Given the description of an element on the screen output the (x, y) to click on. 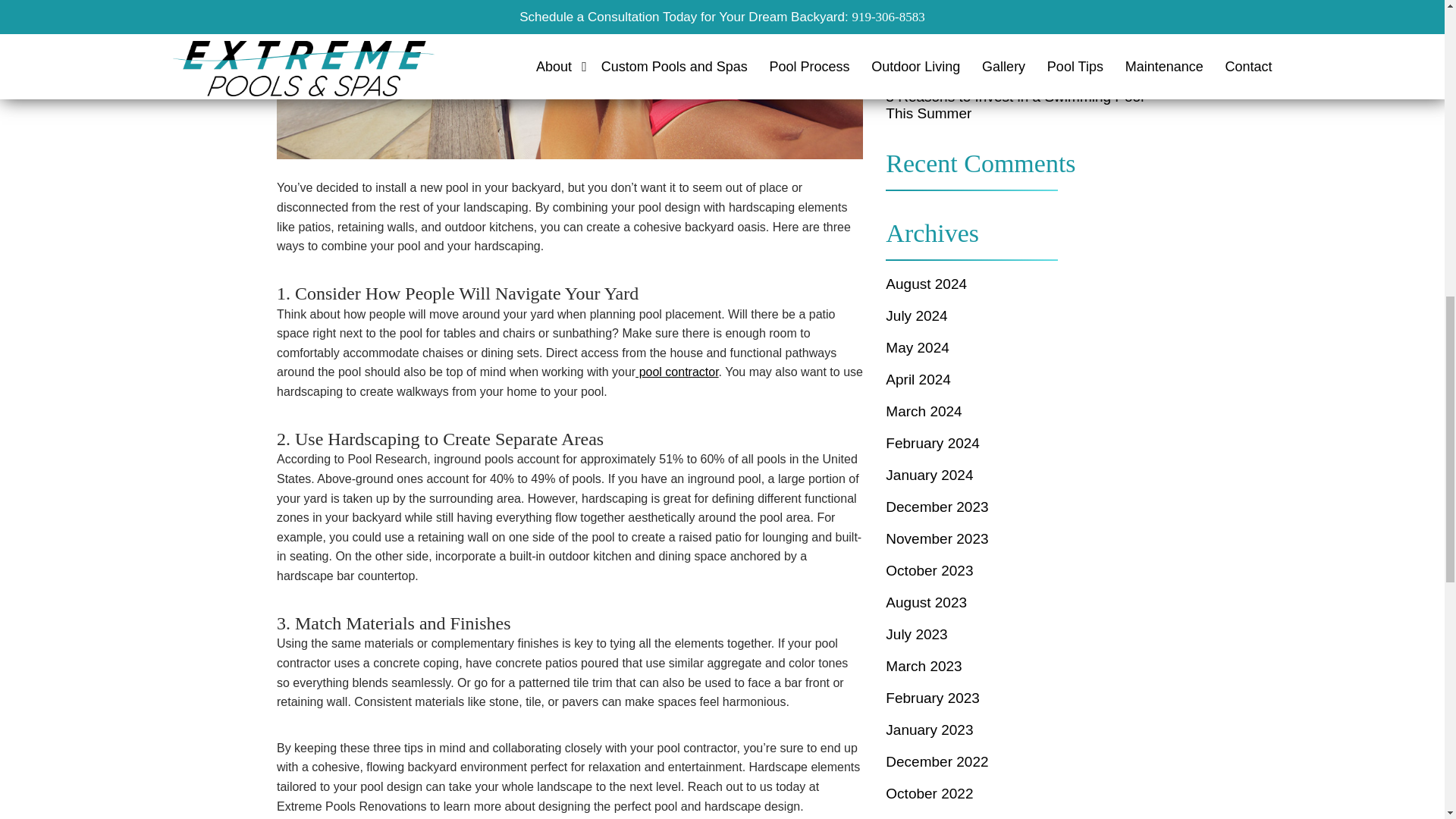
August 2024 (1026, 284)
March 2023 (1026, 666)
December 2023 (1026, 506)
October 2023 (1026, 570)
pool contractor (675, 371)
February 2024 (1026, 443)
April 2024 (1026, 379)
December 2022 (1026, 761)
July 2023 (1026, 634)
January 2024 (1026, 475)
